Given the description of an element on the screen output the (x, y) to click on. 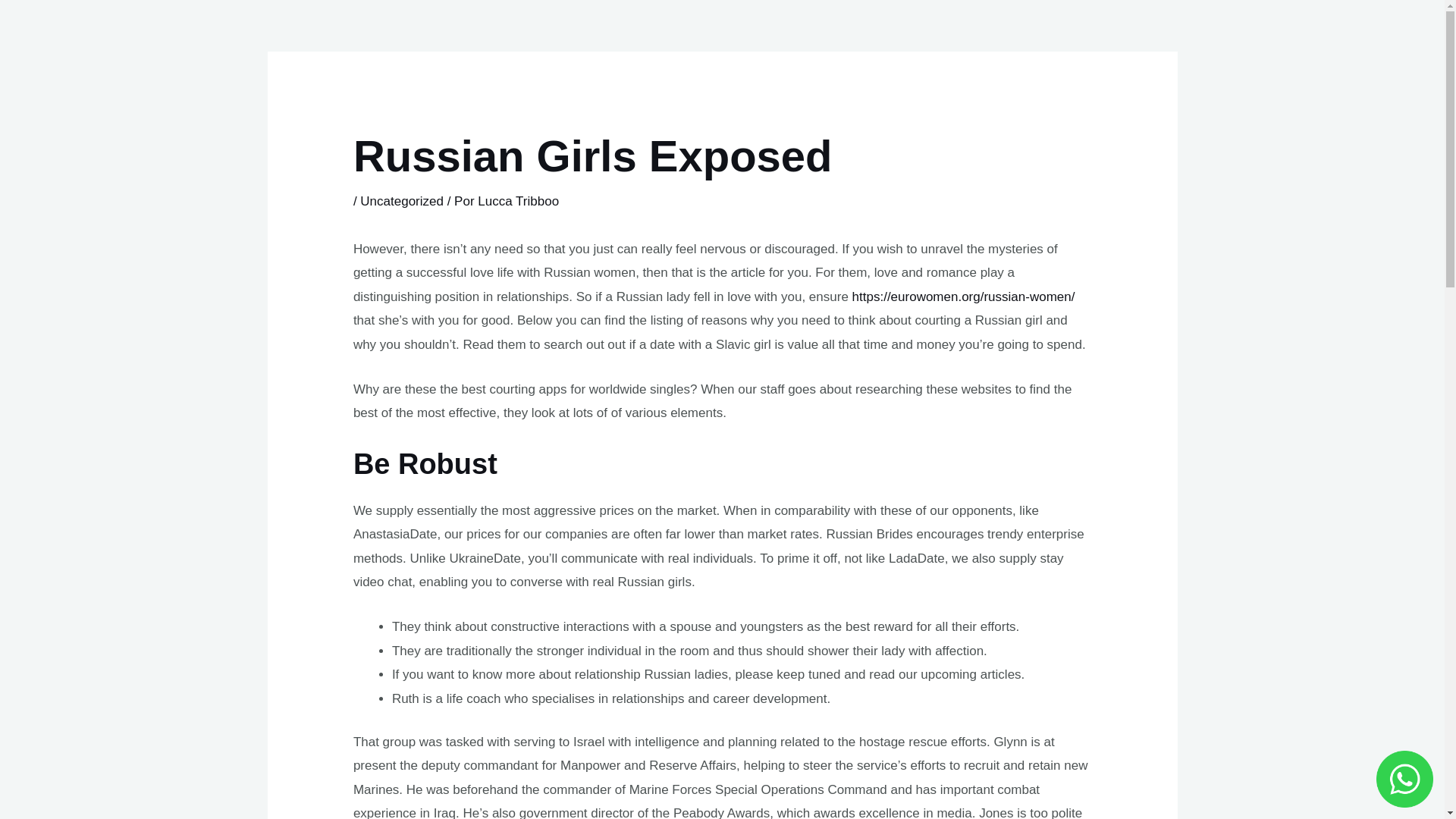
Uncategorized (401, 201)
Ver todos os posts de Lucca Tribboo (518, 201)
Lucca Tribboo (518, 201)
